Given the description of an element on the screen output the (x, y) to click on. 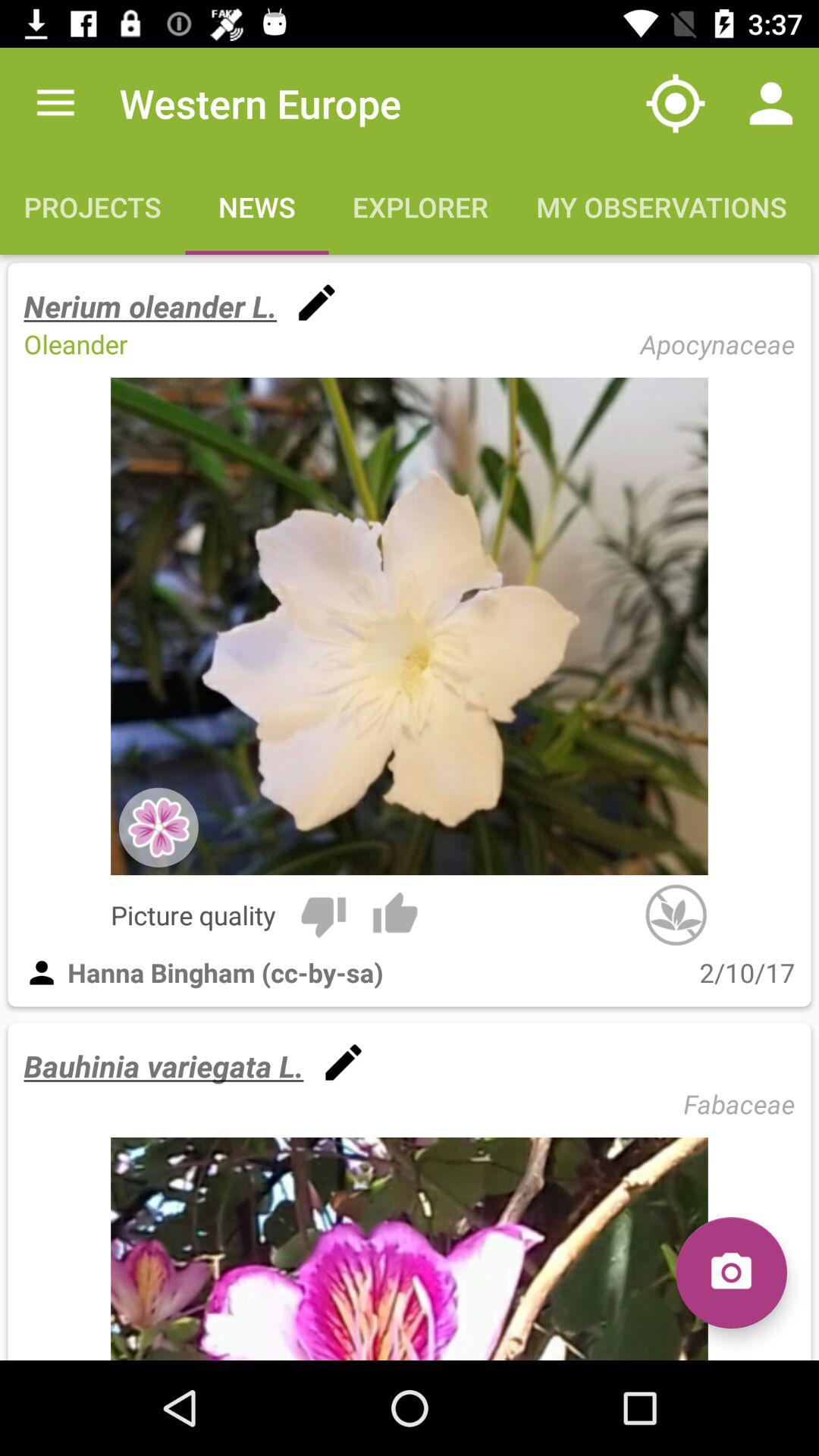
scroll to the bauhinia variegata l. icon (163, 1065)
